Given the description of an element on the screen output the (x, y) to click on. 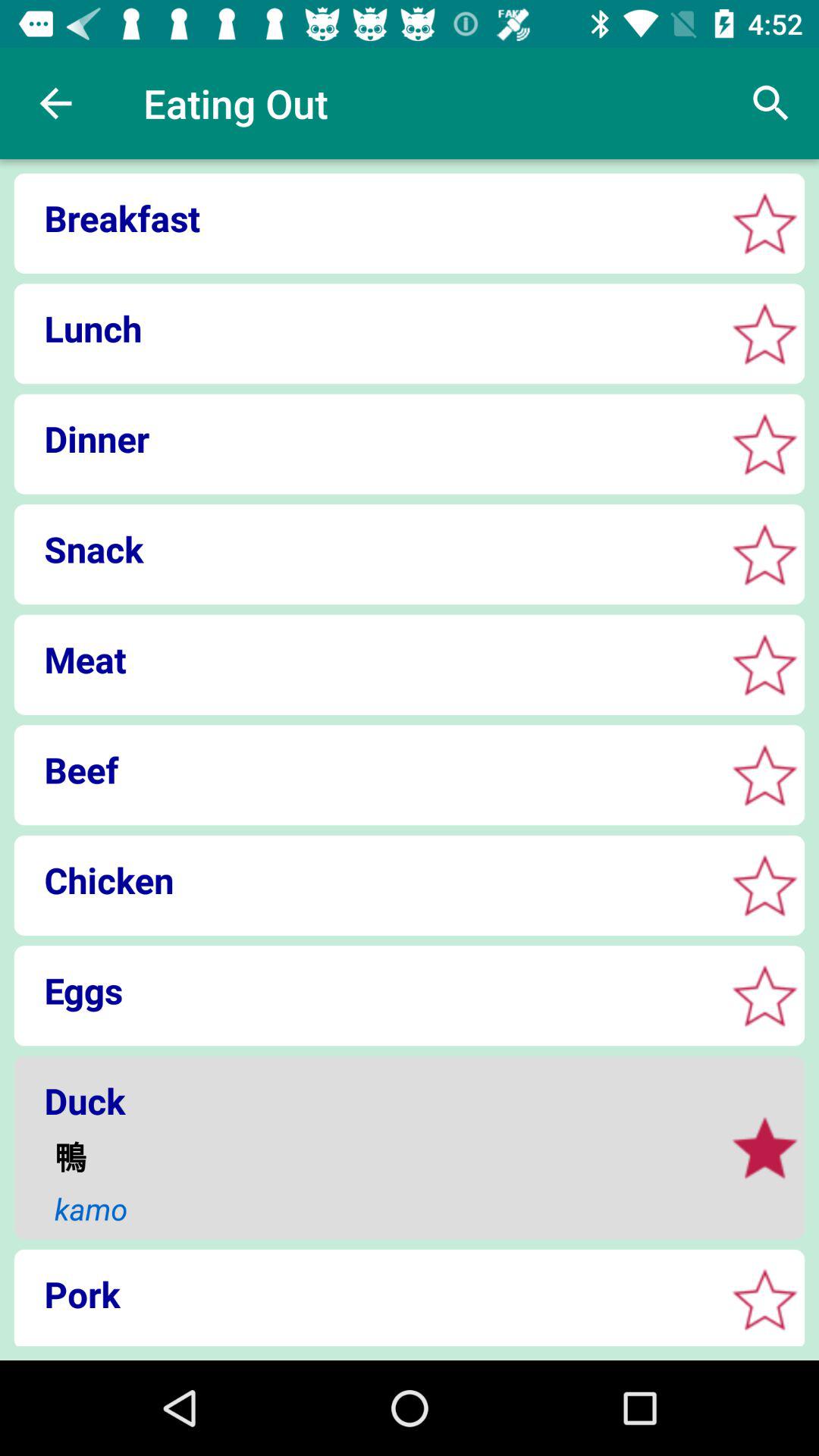
option to highlight the star (764, 333)
